Given the description of an element on the screen output the (x, y) to click on. 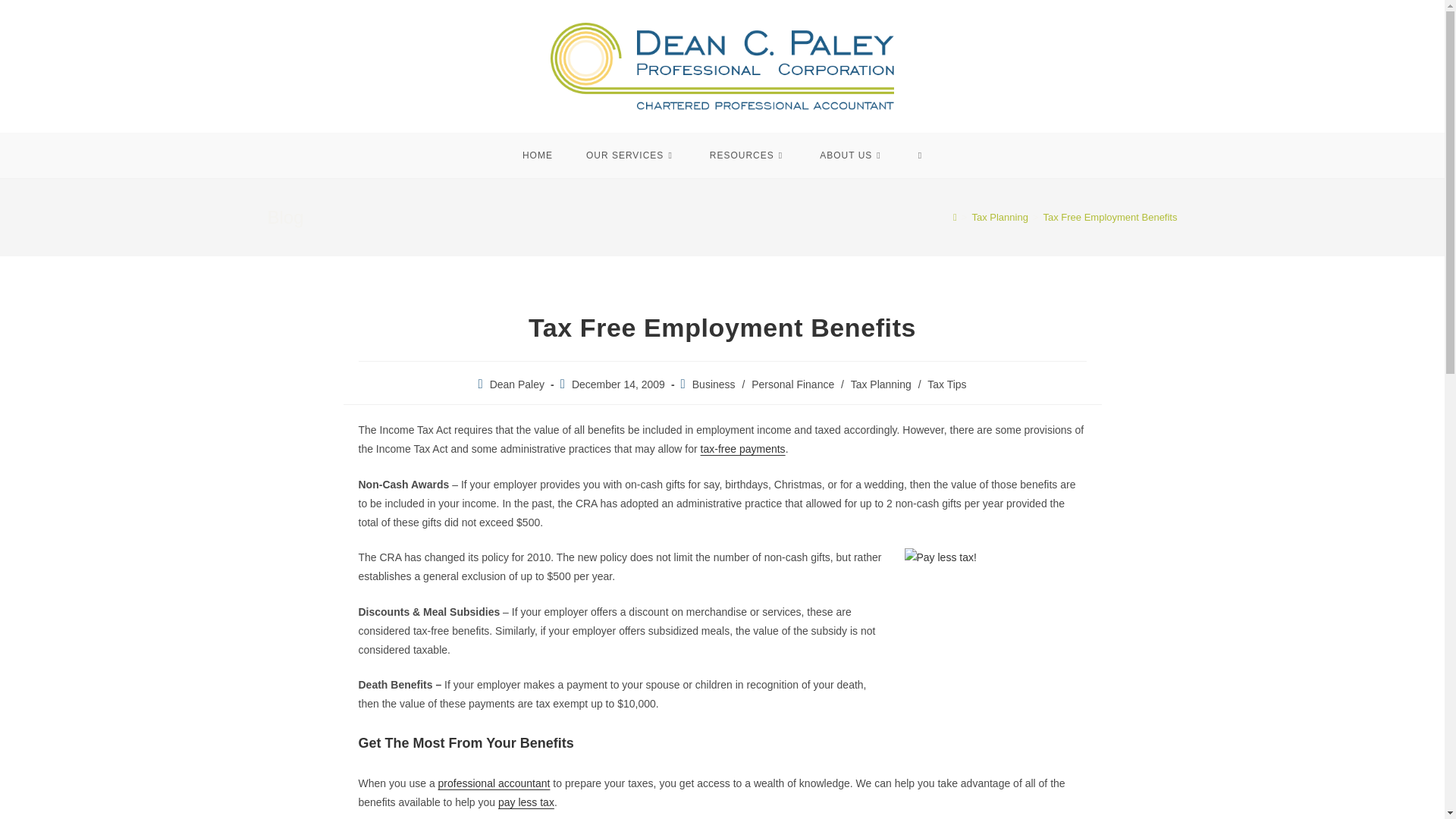
Posts by Dean Paley (516, 384)
HOME (537, 155)
RESOURCES (748, 155)
OUR SERVICES (631, 155)
Are Taxable Benefits Really A Benefit? (743, 449)
ABOUT US (852, 155)
